Given the description of an element on the screen output the (x, y) to click on. 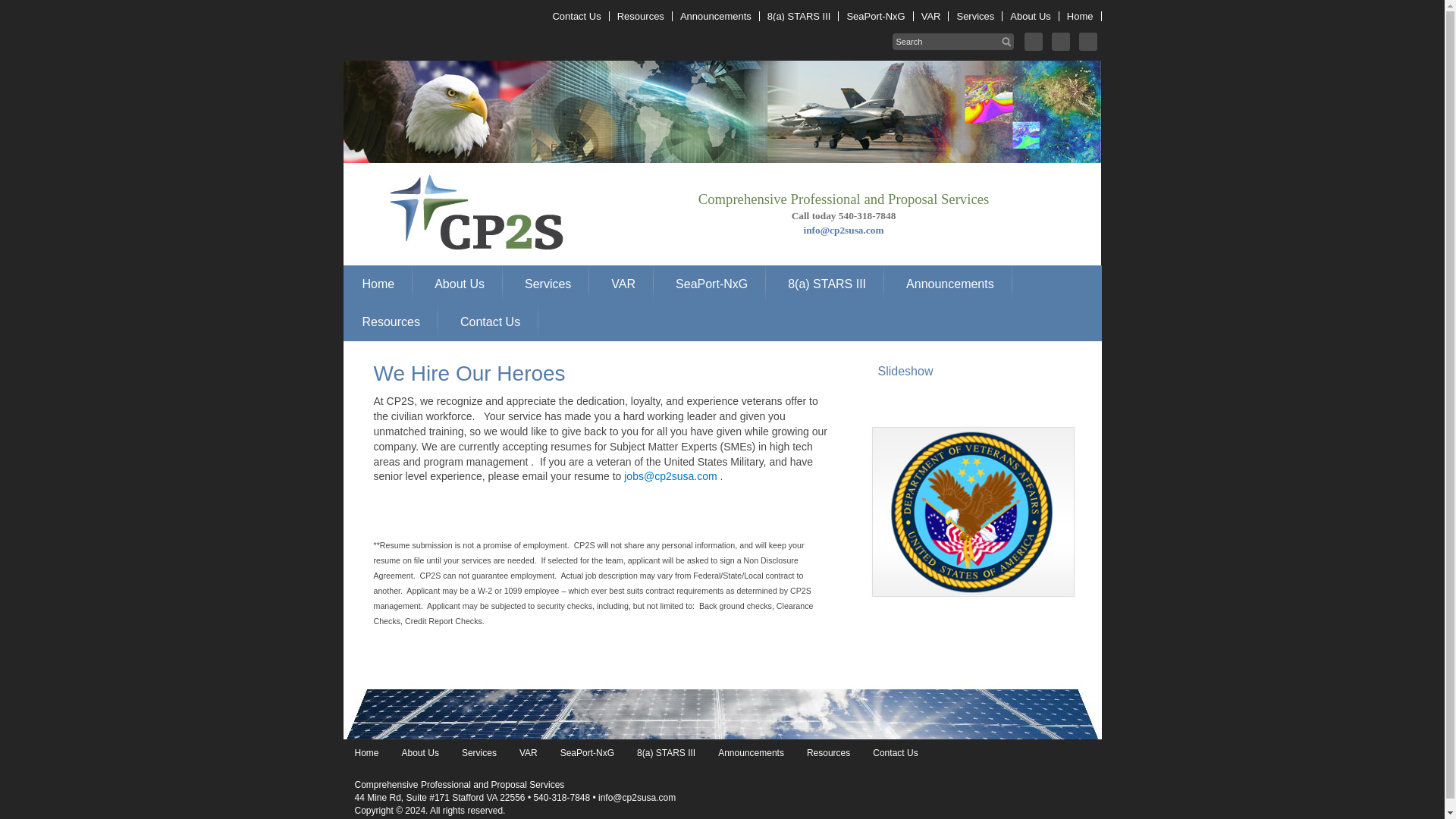
Home (379, 284)
CP2S USA (463, 166)
Search (17, 10)
SeaPort-NxG (875, 16)
About Us (1030, 16)
Services (976, 16)
Home (1080, 16)
About Us (459, 284)
Contact Us (576, 16)
VAR (623, 284)
Resources (391, 322)
Services (547, 284)
Announcements (716, 16)
Resources (641, 16)
SeaPort-NxG (711, 284)
